Given the description of an element on the screen output the (x, y) to click on. 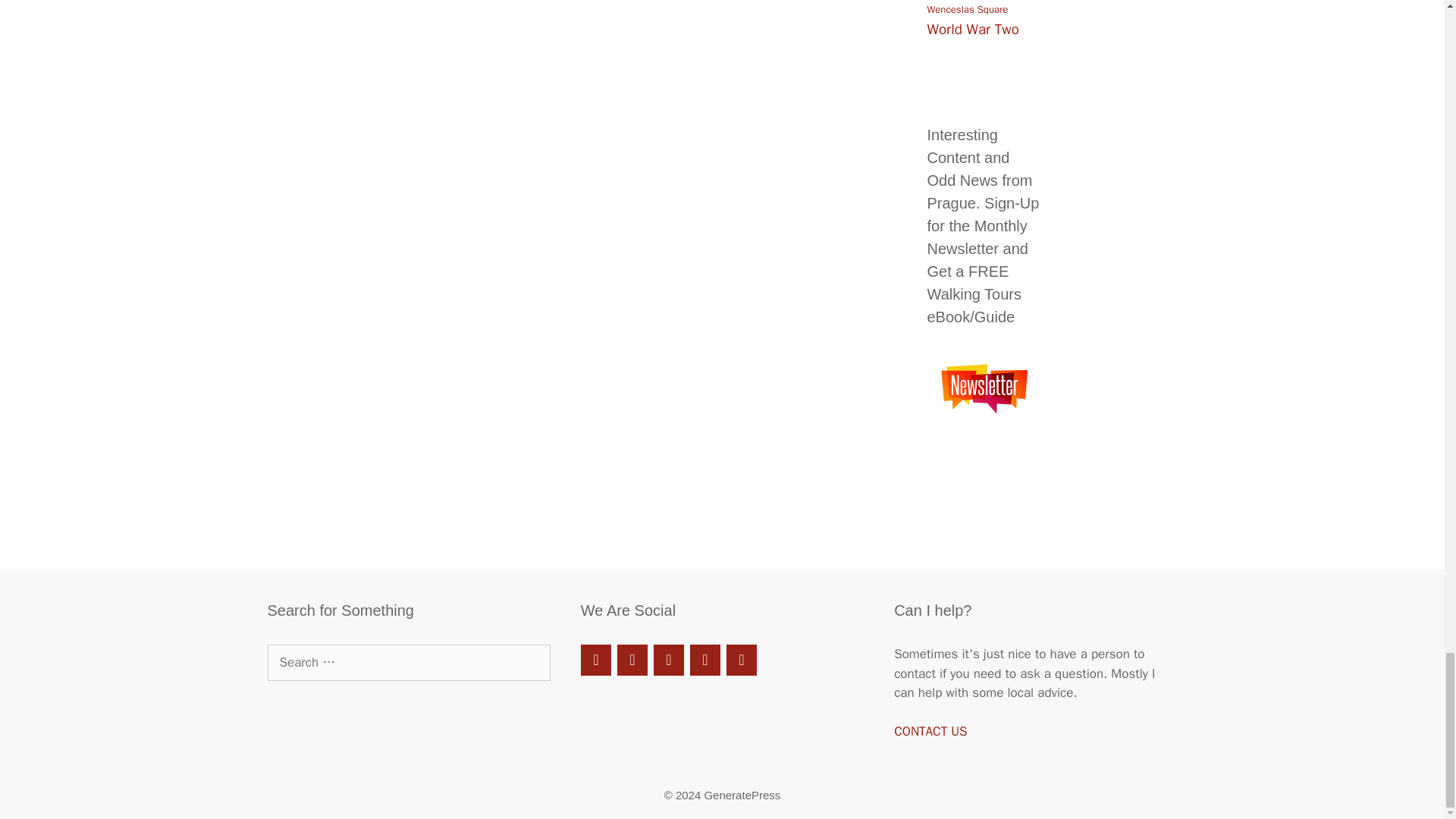
Instagram (741, 659)
YouTube (705, 659)
Pinterest (668, 659)
Search for: (408, 662)
Trip Advisor (632, 659)
Facebook (595, 659)
